Given the description of an element on the screen output the (x, y) to click on. 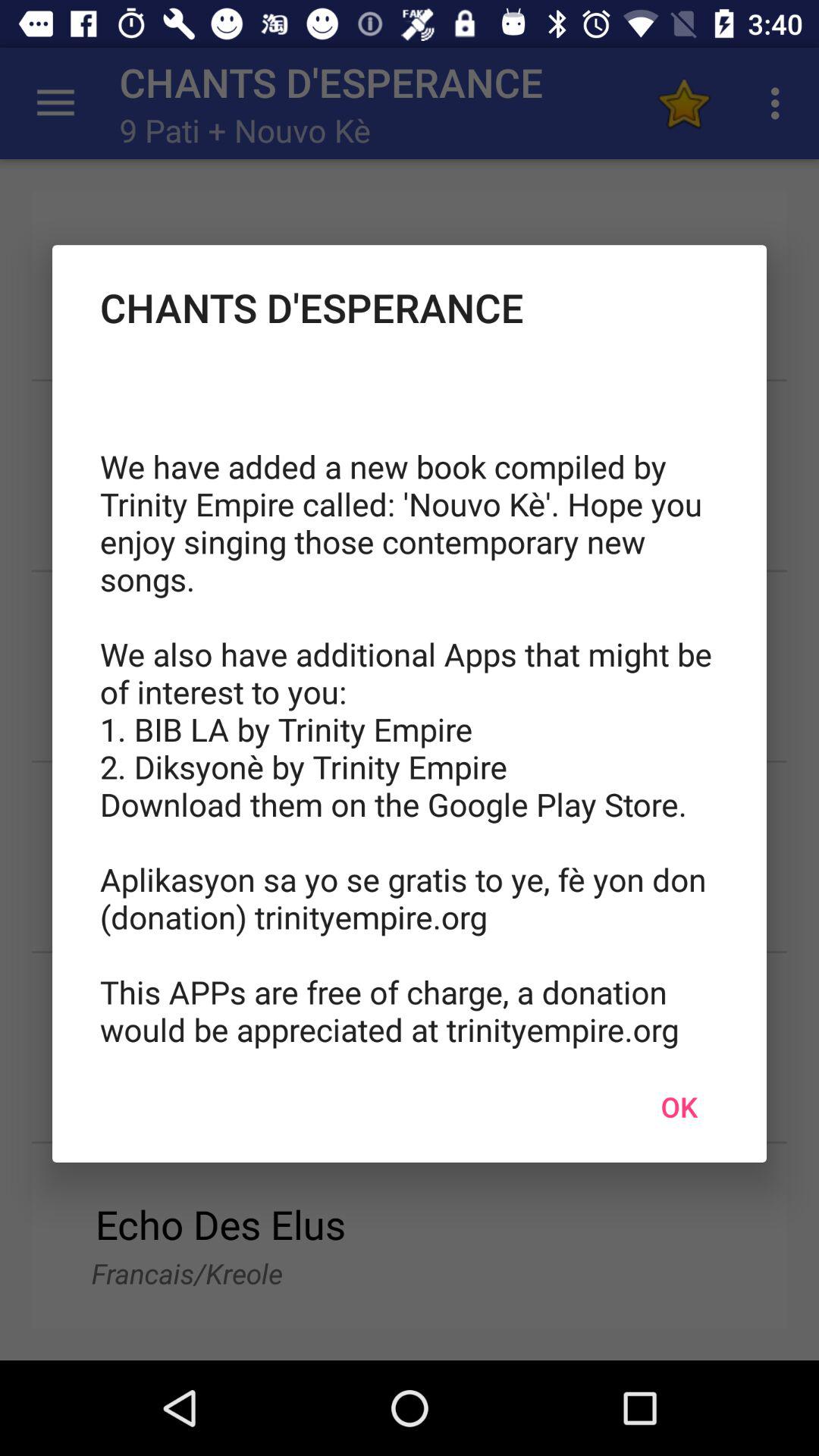
jump to ok icon (678, 1106)
